Given the description of an element on the screen output the (x, y) to click on. 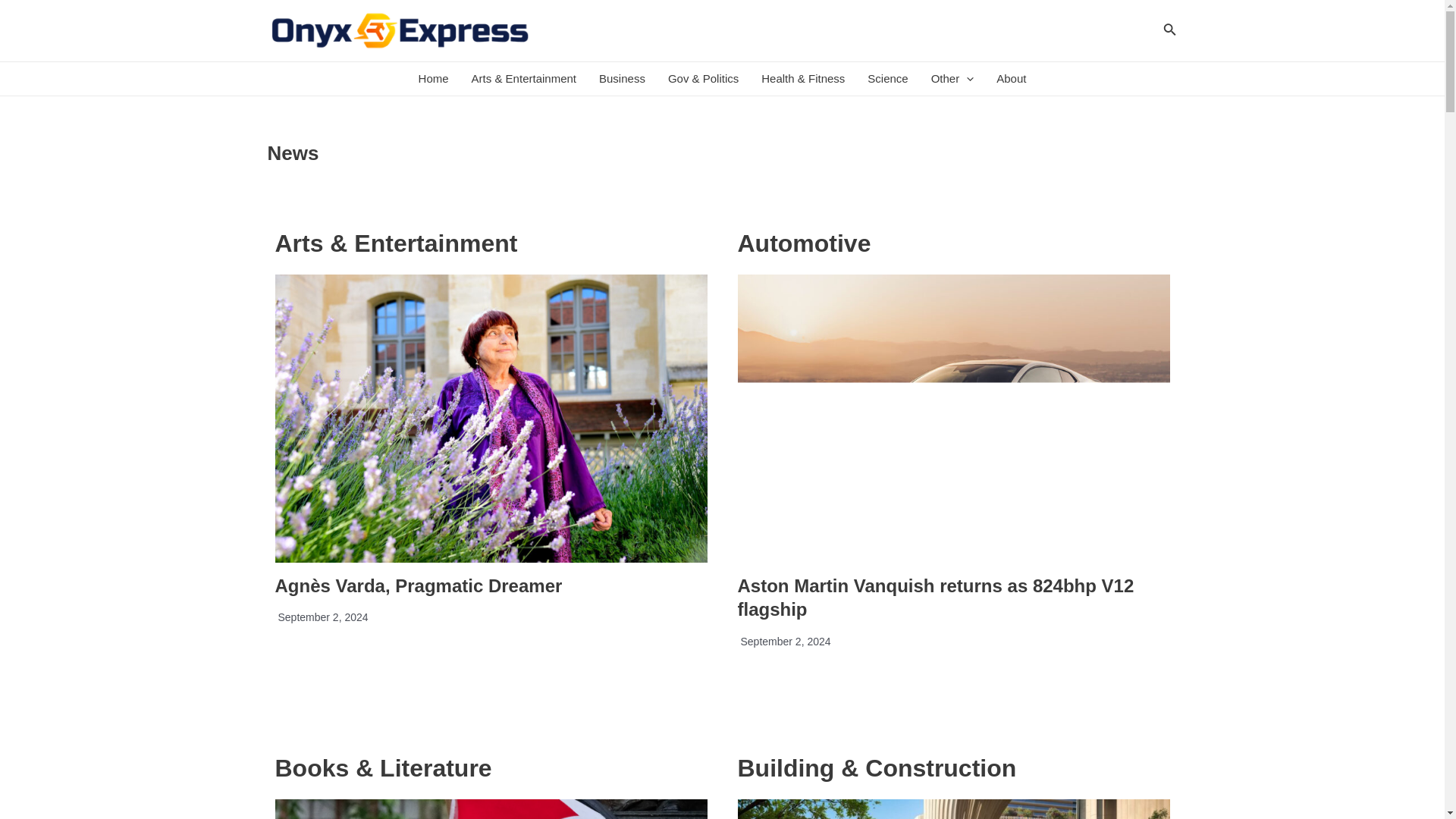
Home (433, 78)
Science (887, 78)
Other (952, 78)
About (1010, 78)
Business (622, 78)
